Given the description of an element on the screen output the (x, y) to click on. 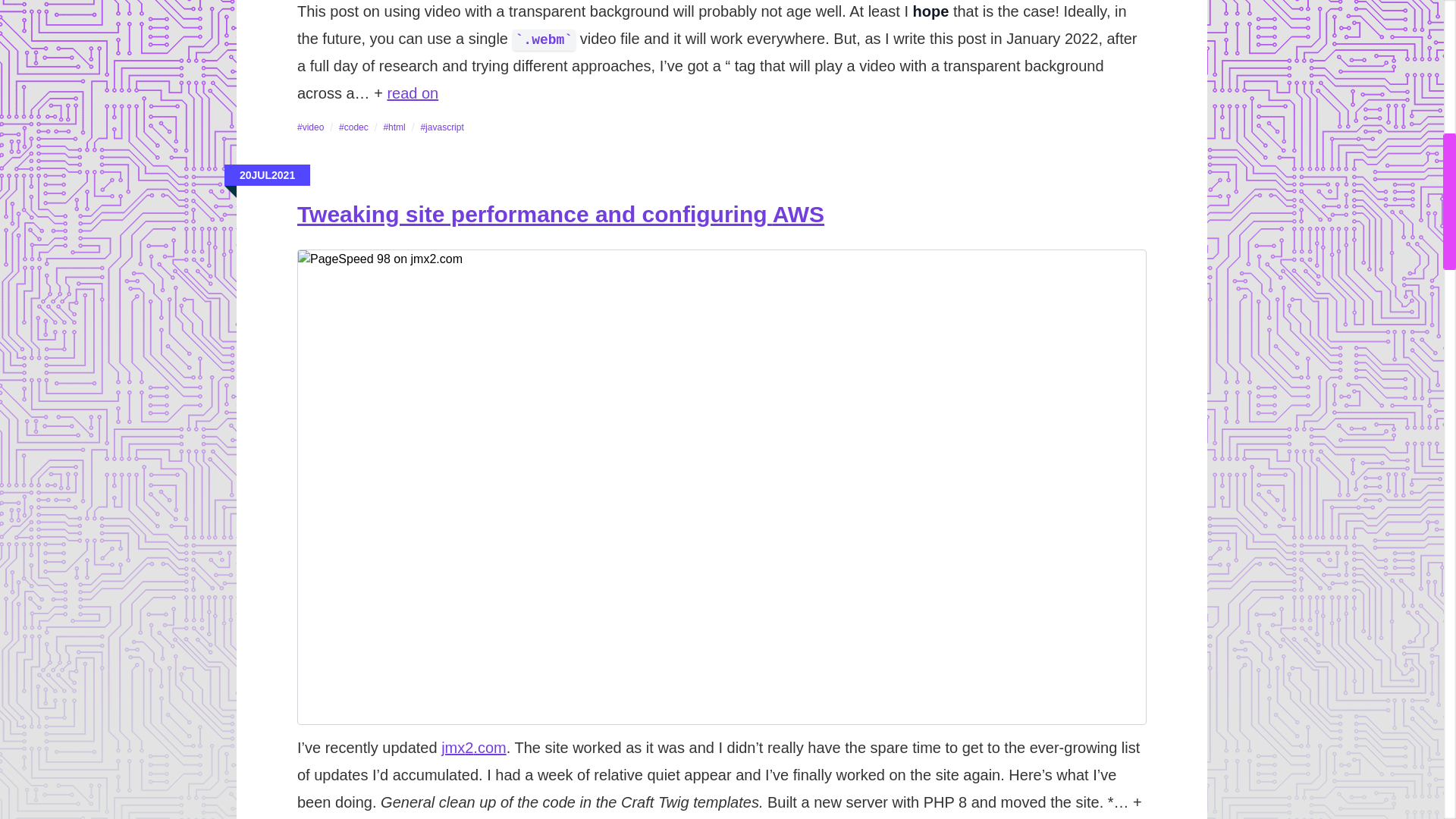
jmx2.com (473, 747)
Tweaking site performance and configuring AWS (560, 213)
read on (412, 93)
